Given the description of an element on the screen output the (x, y) to click on. 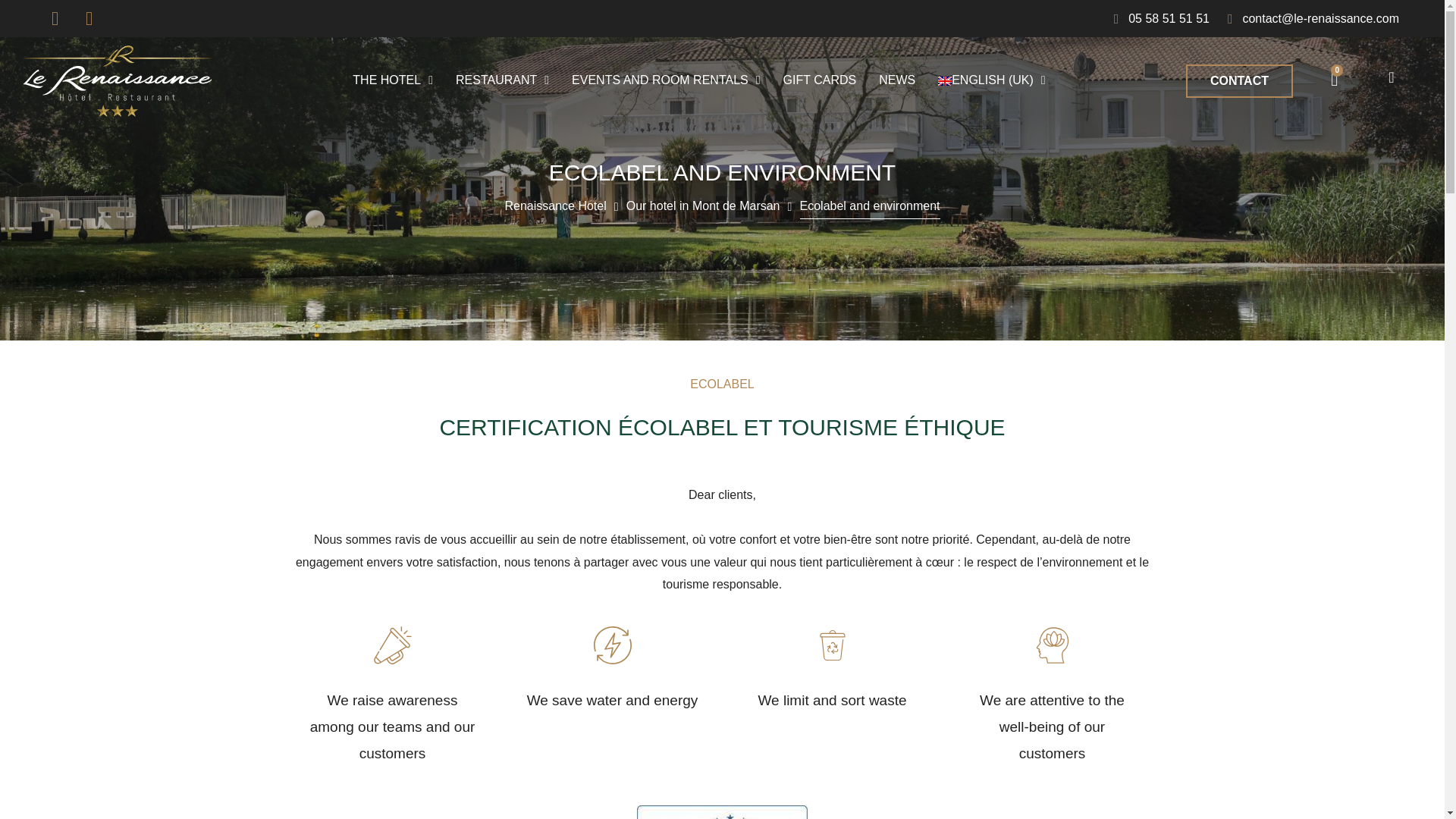
THE HOTEL (393, 80)
Renaissance Hotel (554, 207)
NEWS (896, 80)
Instagram (89, 18)
CONTACT (1239, 80)
RESTAURANT (502, 80)
Facebook (54, 18)
Our hotel in Mont de Marsan (703, 207)
GIFT CARDS (1334, 78)
EVENTS AND ROOM RENTALS (820, 80)
